Given the description of an element on the screen output the (x, y) to click on. 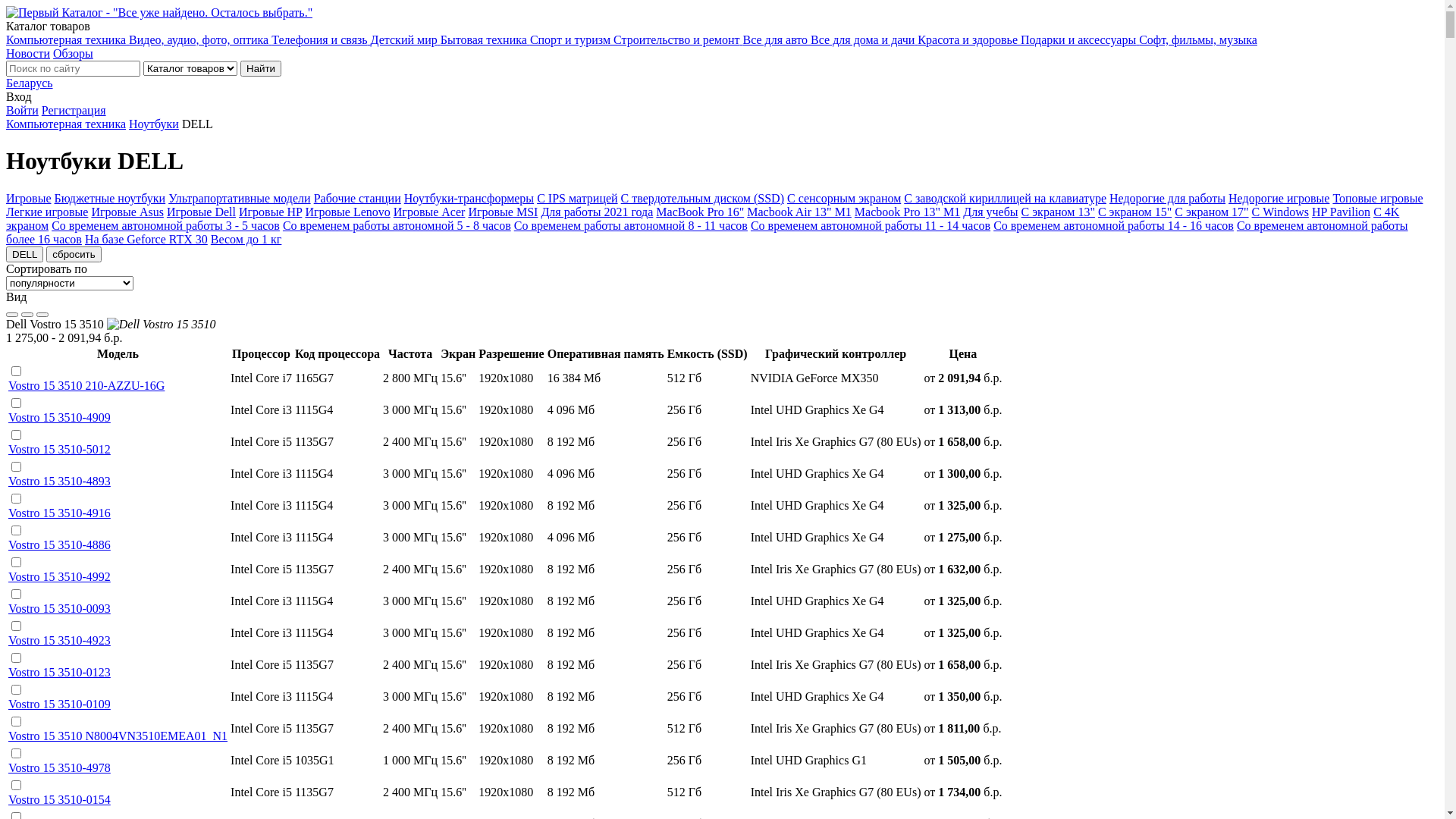
Vostro 15 3510-0123 Element type: text (59, 671)
Vostro 15 3510 210-AZZU-16G Element type: text (86, 385)
Vostro 15 3510 N8004VN3510EMEA01_N1 Element type: text (117, 735)
Vostro 15 3510-4916 Element type: text (59, 512)
Macbook Air 13" M1 Element type: text (798, 211)
MacBook Pro 16" Element type: text (699, 211)
Vostro 15 3510-4893 Element type: text (59, 480)
Vostro 15 3510-5012 Element type: text (59, 448)
Macbook Pro 13" M1 Element type: text (907, 211)
Vostro 15 3510-0093 Element type: text (59, 608)
Dell Vostro 15 3510 Element type: hover (161, 324)
Vostro 15 3510-4886 Element type: text (59, 544)
DELL Element type: text (24, 254)
Vostro 15 3510-4923 Element type: text (59, 639)
Vostro 15 3510-4992 Element type: text (59, 576)
Vostro 15 3510-0154 Element type: text (59, 799)
Vostro 15 3510-4909 Element type: text (59, 417)
HP Pavilion Element type: text (1340, 211)
Vostro 15 3510-4978 Element type: text (59, 767)
Vostro 15 3510-0109 Element type: text (59, 703)
